Given the description of an element on the screen output the (x, y) to click on. 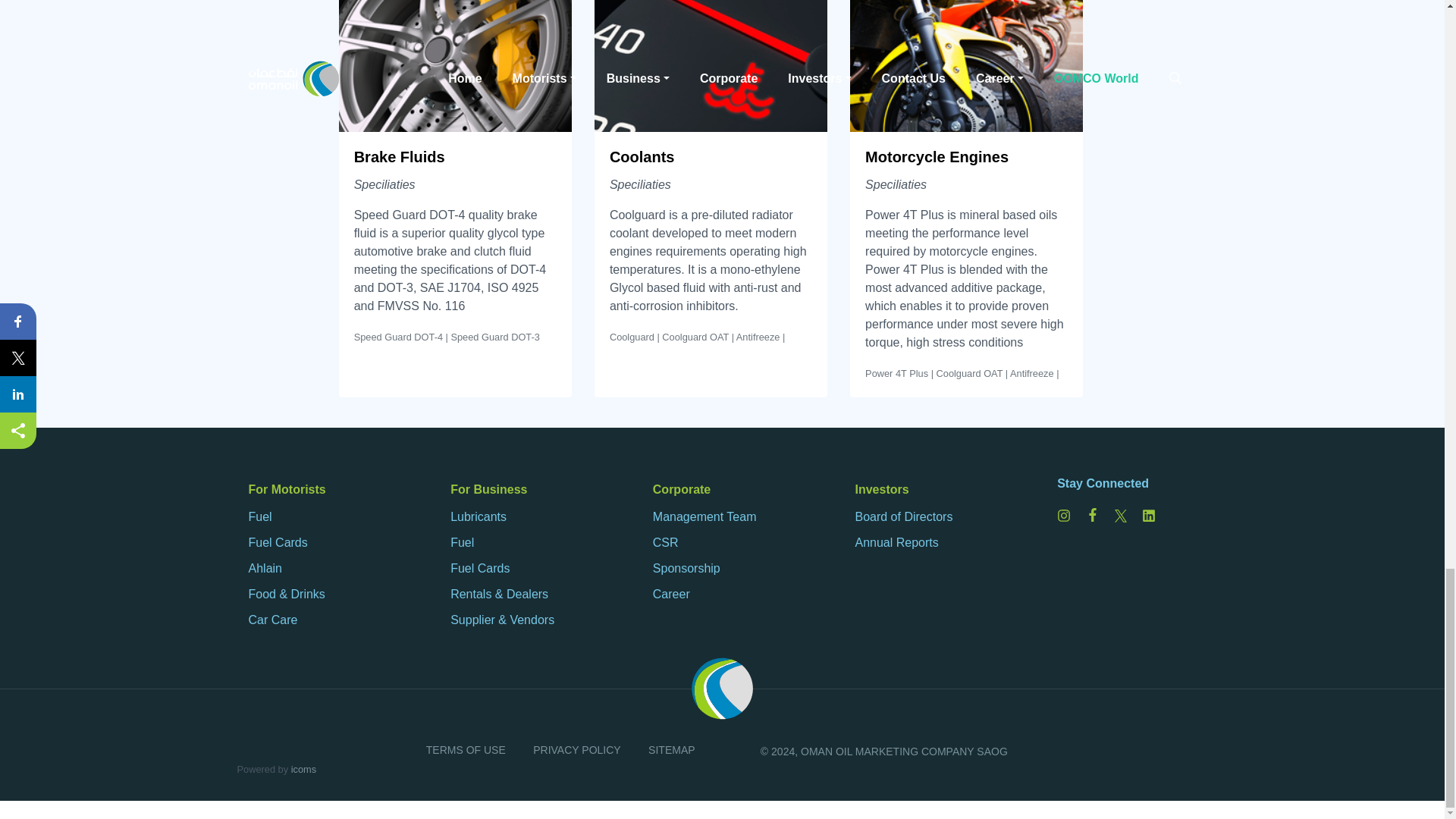
twitter icon (1120, 515)
